Given the description of an element on the screen output the (x, y) to click on. 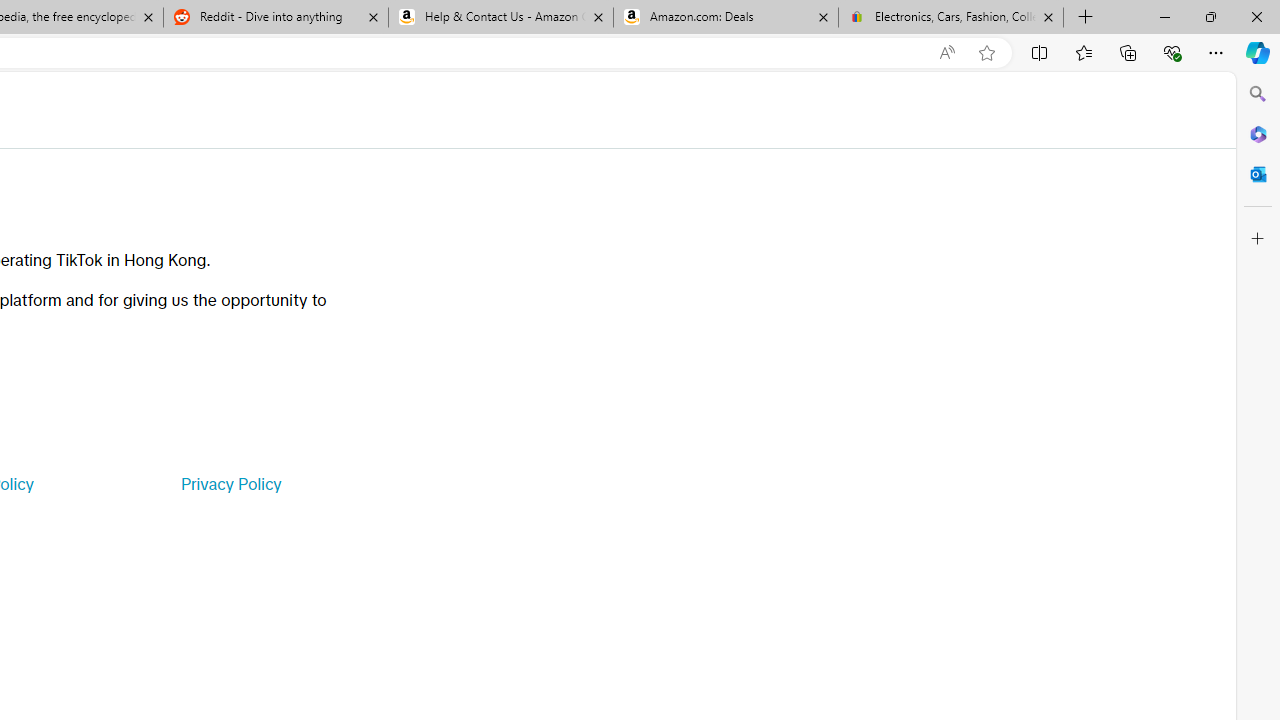
Electronics, Cars, Fashion, Collectibles & More | eBay (950, 17)
